Given the description of an element on the screen output the (x, y) to click on. 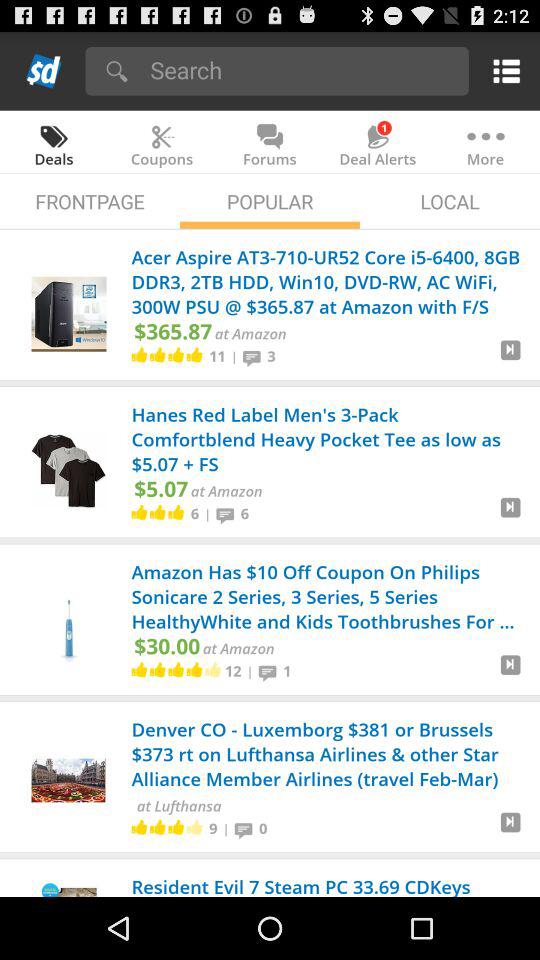
swipe to 11 app (217, 355)
